Given the description of an element on the screen output the (x, y) to click on. 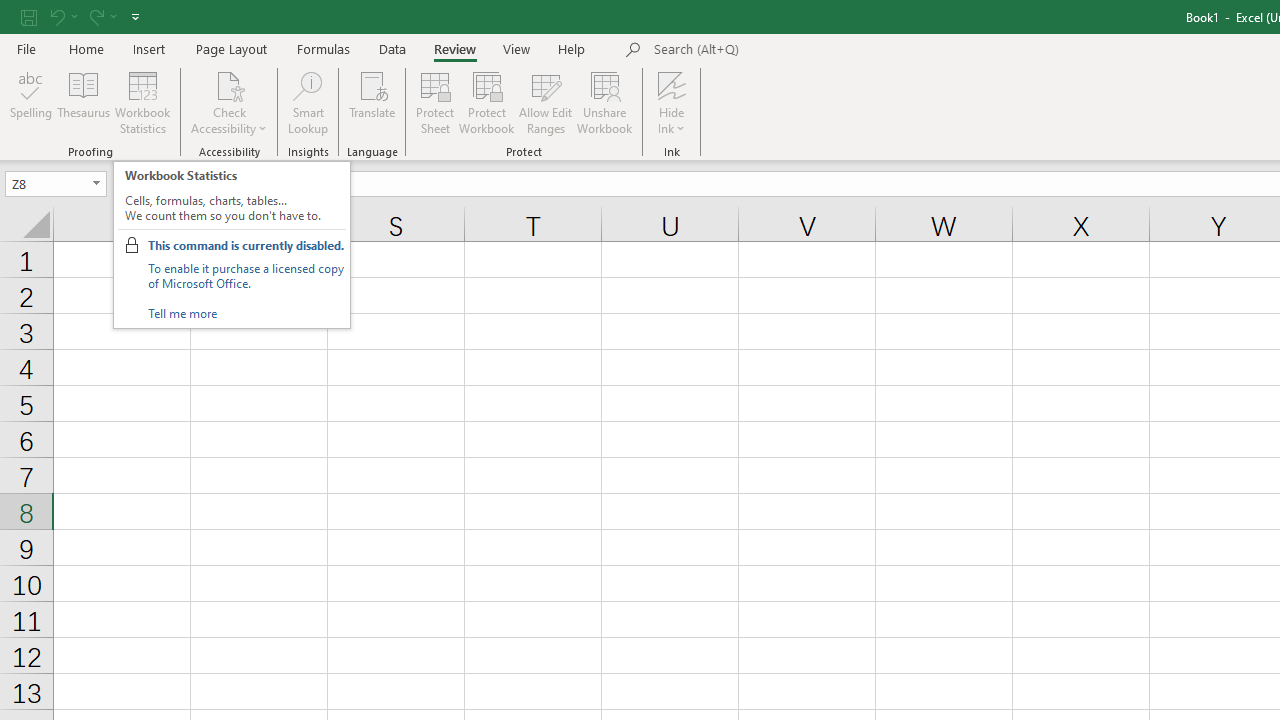
Thesaurus... (83, 102)
Allow Edit Ranges (545, 102)
Spelling... (31, 102)
Protect Sheet... (434, 102)
